Given the description of an element on the screen output the (x, y) to click on. 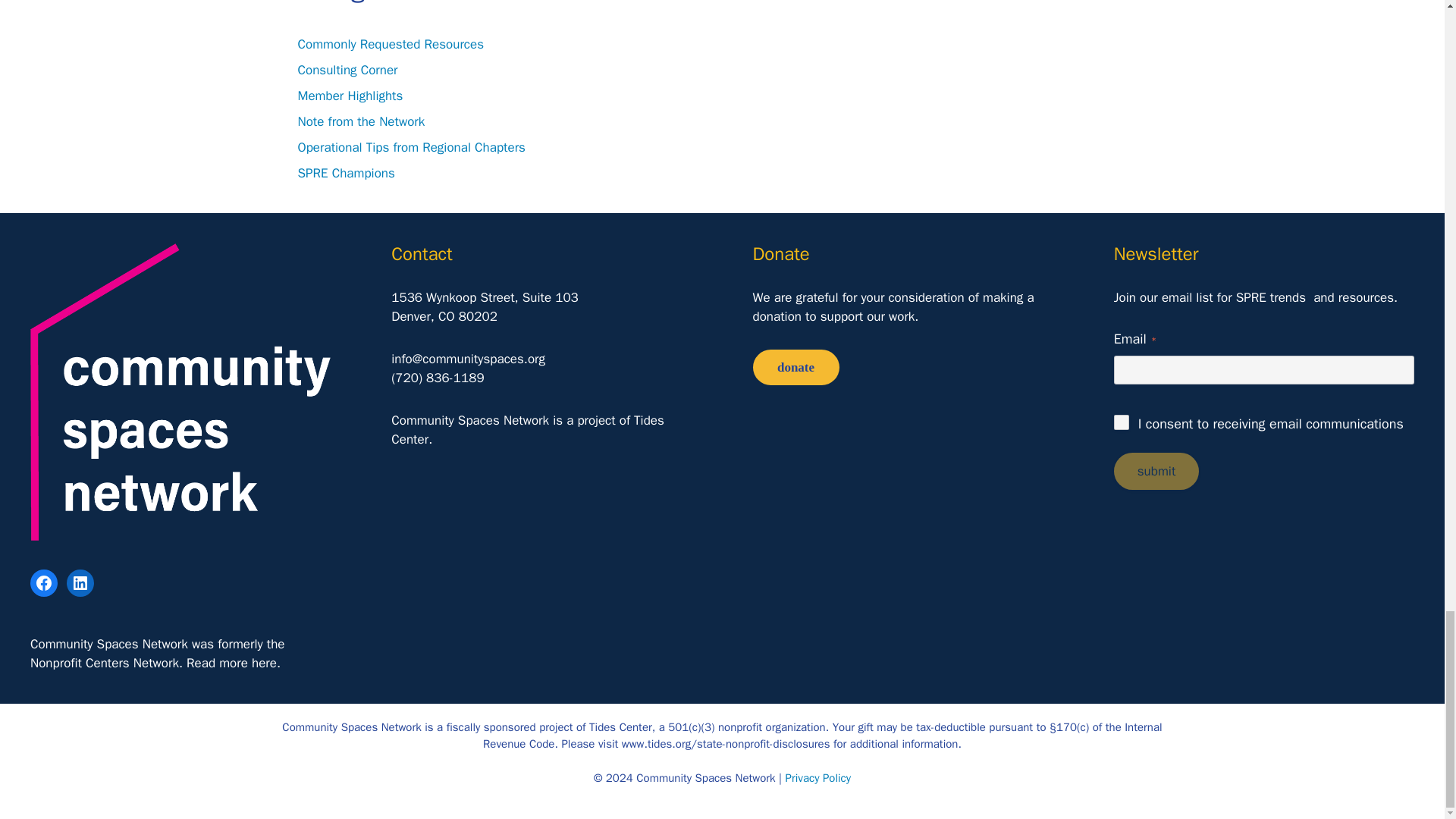
1 (1121, 421)
submit (1156, 470)
